Given the description of an element on the screen output the (x, y) to click on. 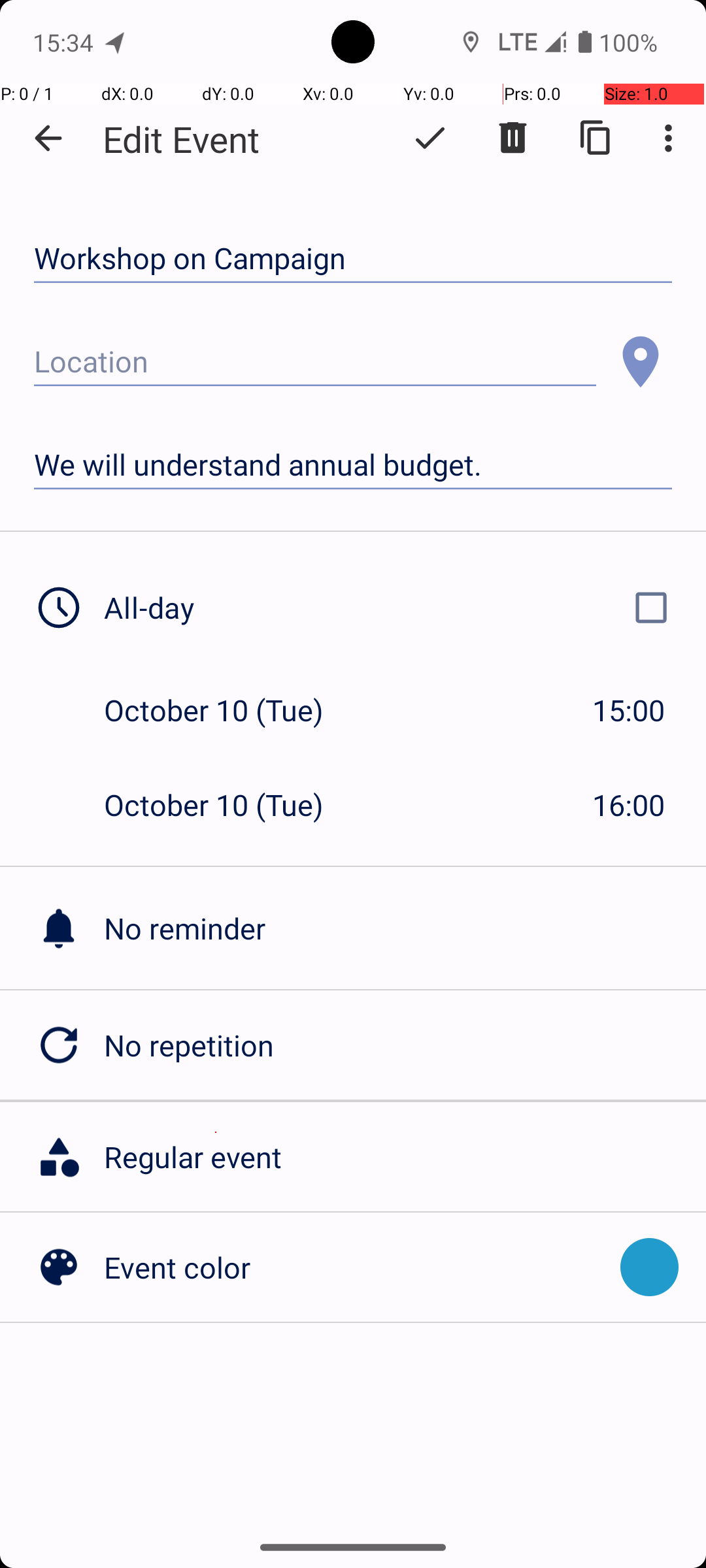
We will understand annual budget. Element type: android.widget.EditText (352, 465)
October 10 (Tue) Element type: android.widget.TextView (227, 709)
